Given the description of an element on the screen output the (x, y) to click on. 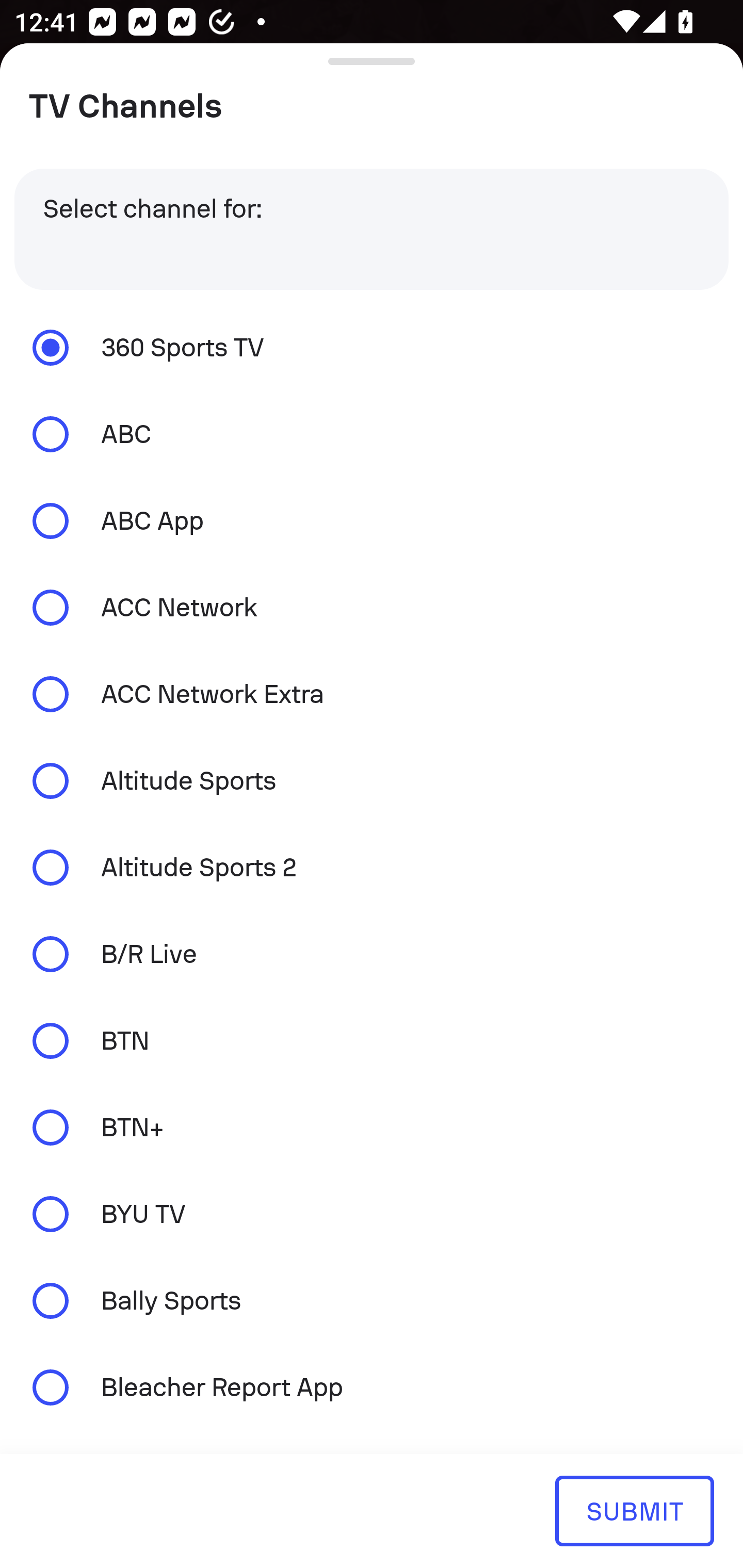
360 Sports TV (371, 347)
ABC (371, 434)
ABC App (371, 521)
ACC Network (371, 607)
ACC Network Extra (371, 693)
Altitude Sports (371, 780)
Altitude Sports 2 (371, 867)
B/R Live (371, 954)
BTN (371, 1040)
BTN+ (371, 1127)
BYU TV (371, 1214)
Bally Sports (371, 1300)
Bleacher Report App (371, 1386)
SUBMIT (634, 1510)
